Given the description of an element on the screen output the (x, y) to click on. 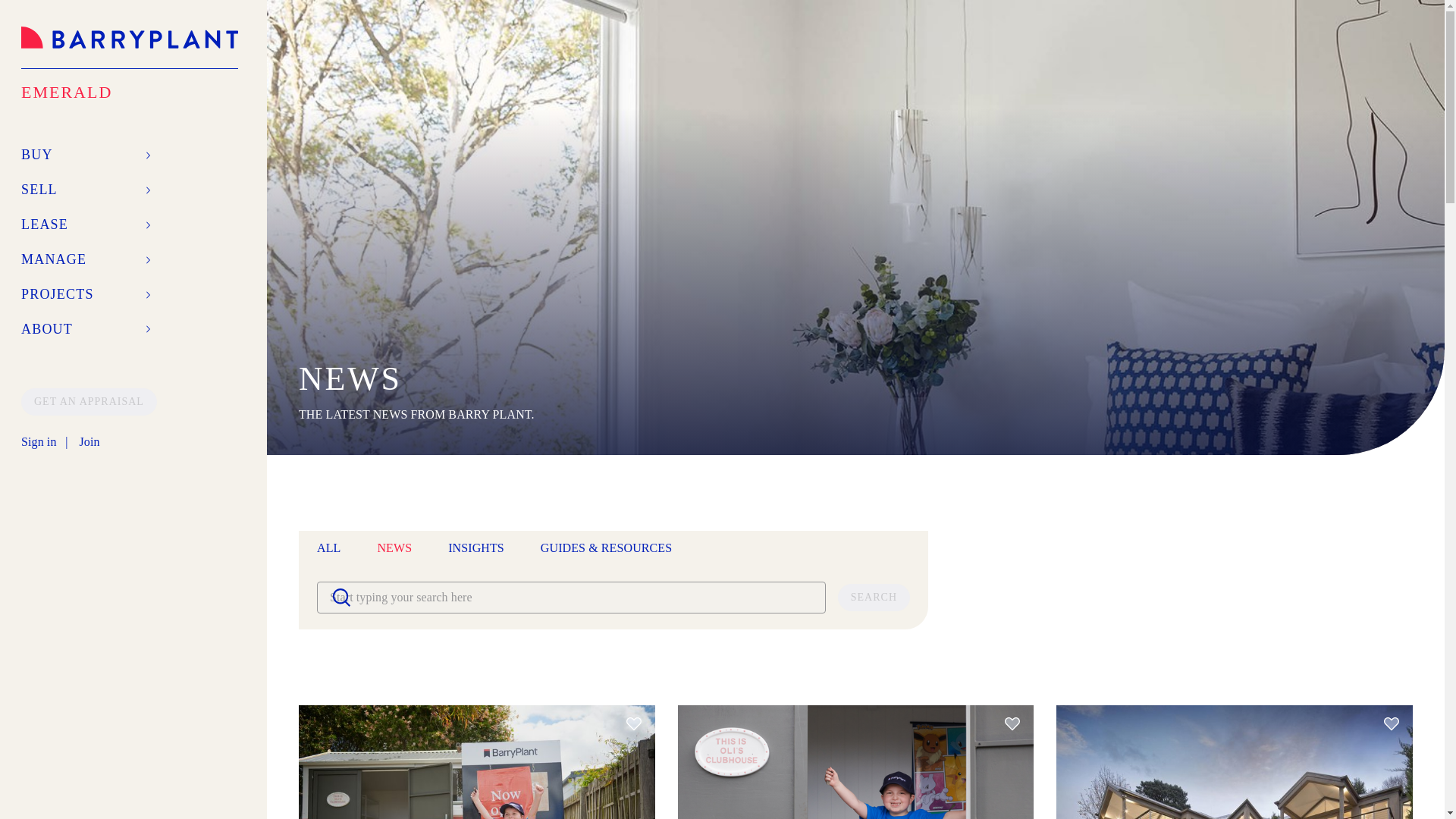
GET AN APPRAISAL (89, 401)
GET AN APPRAISAL (89, 400)
SEARCH (874, 596)
EMERALD (129, 85)
Sign in (38, 442)
Join (88, 442)
